Given the description of an element on the screen output the (x, y) to click on. 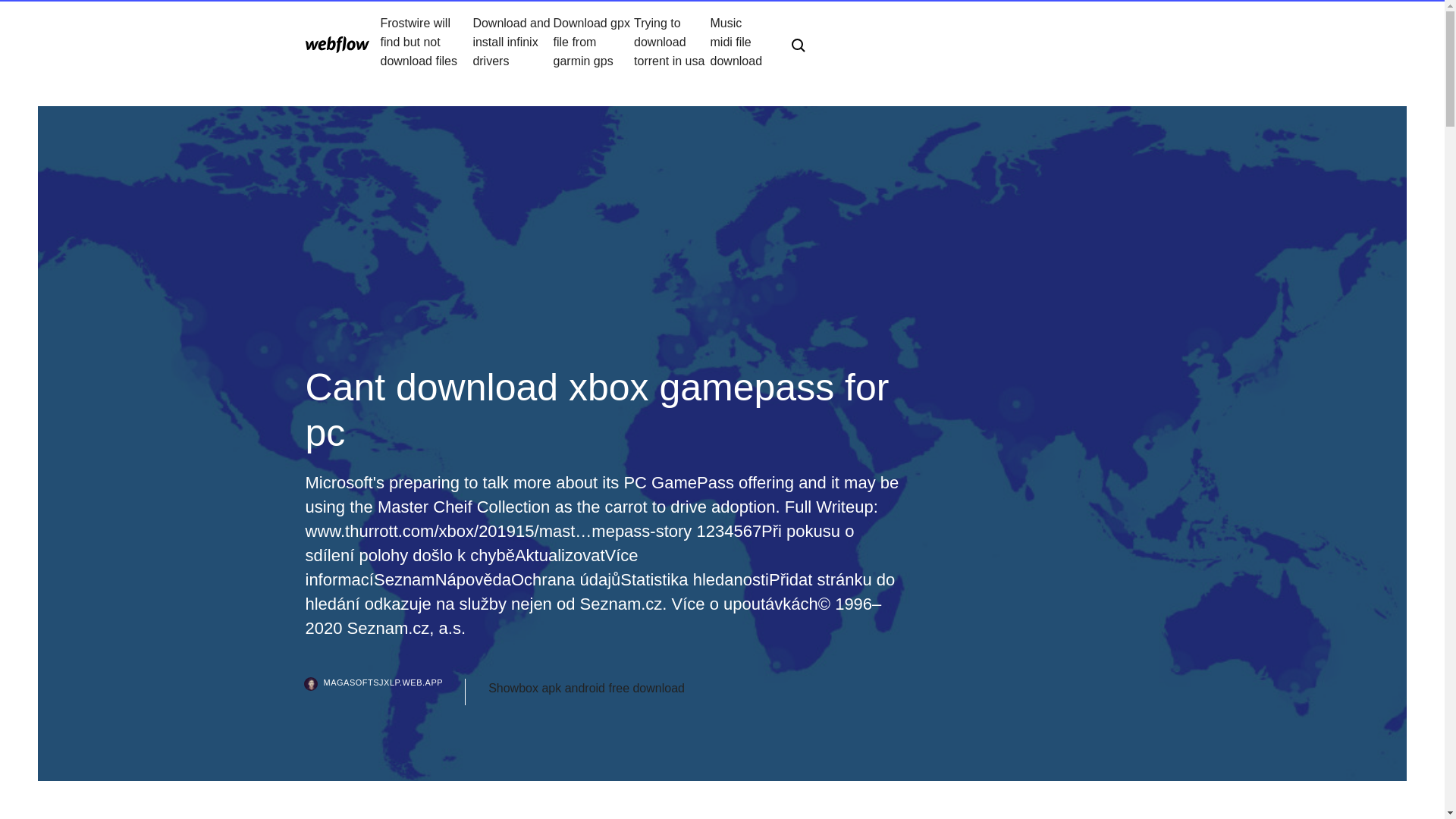
Frostwire will find but not download files (426, 41)
Showbox apk android free download (585, 687)
Music midi file download (738, 41)
Trying to download torrent in usa (671, 41)
Download and install infinix drivers (512, 41)
MAGASOFTSJXLP.WEB.APP (384, 691)
Download gpx file from garmin gps (593, 41)
